Given the description of an element on the screen output the (x, y) to click on. 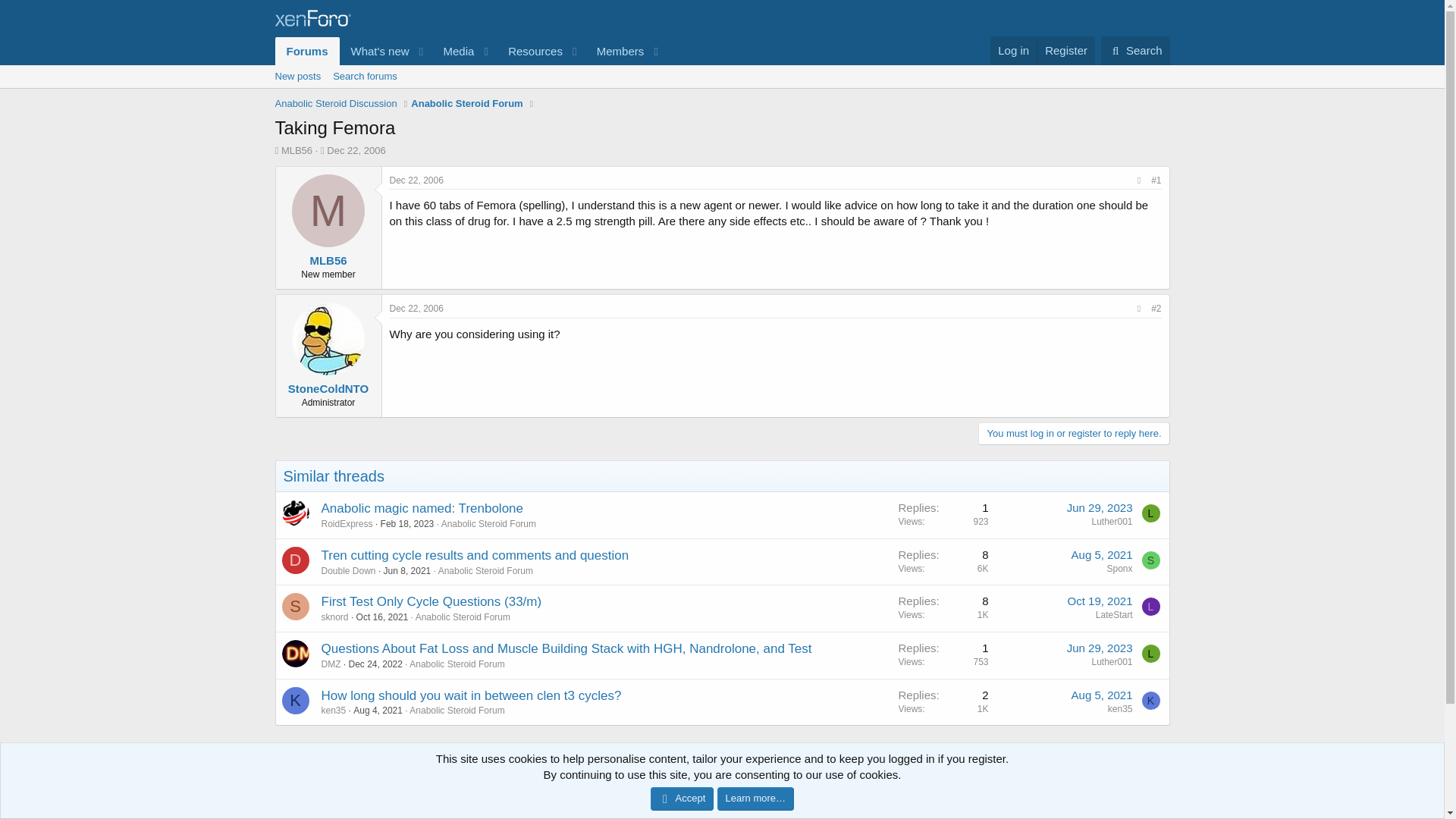
What's new (720, 93)
Dec 24, 2022 at 9:57 PM (374, 50)
First message reaction score: 0 (376, 664)
Search (942, 561)
Members (1135, 50)
Media (615, 50)
Dec 22, 2006 at 5:39 PM (453, 50)
Aug 5, 2021 at 2:53 PM (417, 180)
Dec 22, 2006 at 5:50 PM (1101, 554)
Jun 8, 2021 at 1:37 AM (417, 308)
Log in (407, 570)
Jun 29, 2023 at 7:47 AM (1013, 50)
Feb 18, 2023 at 8:17 PM (1099, 647)
